Given the description of an element on the screen output the (x, y) to click on. 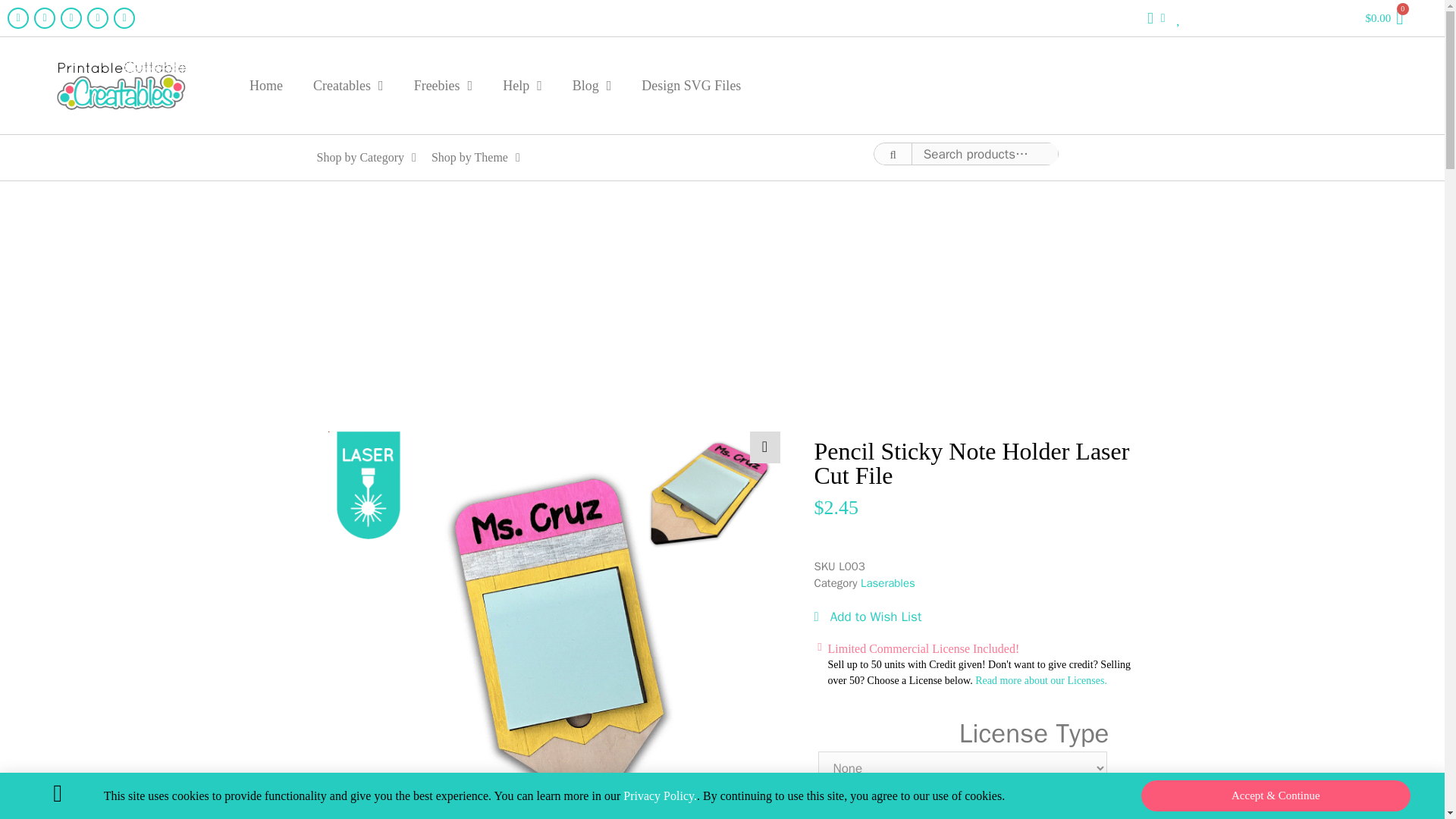
Home (266, 85)
Creatables (348, 85)
My Account (1155, 17)
cropped-PCC-Logo-Home-02.png (121, 85)
